Given the description of an element on the screen output the (x, y) to click on. 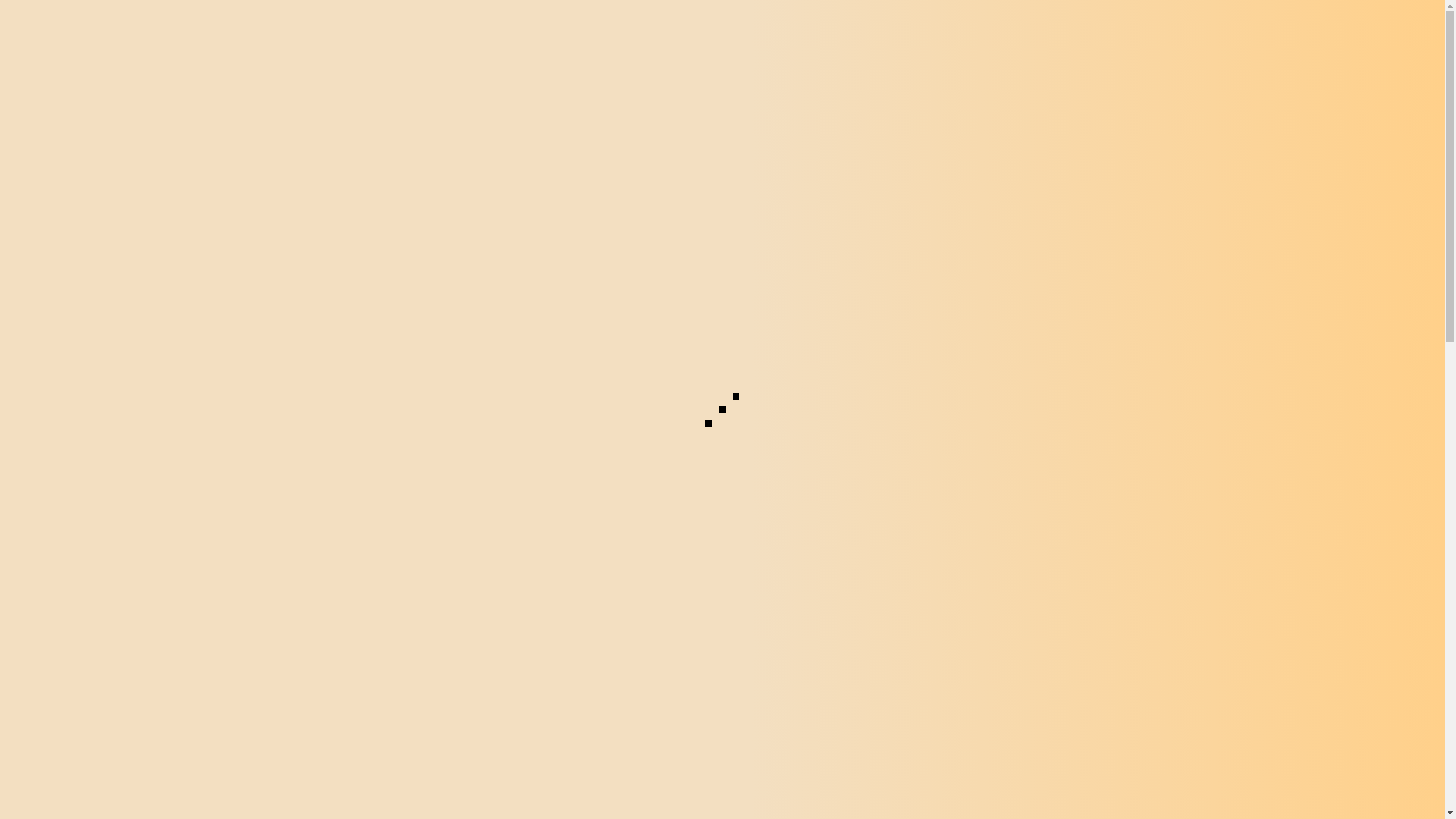
MINDFUCK (767, 229)
Phil Pseudonym (203, 555)
View Random Post (1236, 230)
MINDFUCK (1043, 437)
MINDFUCK (196, 487)
WHATEVER (915, 229)
Phil Italiano (474, 627)
ROKU (692, 229)
Taking Back Patriotism (576, 596)
Phil Pseudonym (1050, 505)
